Given the description of an element on the screen output the (x, y) to click on. 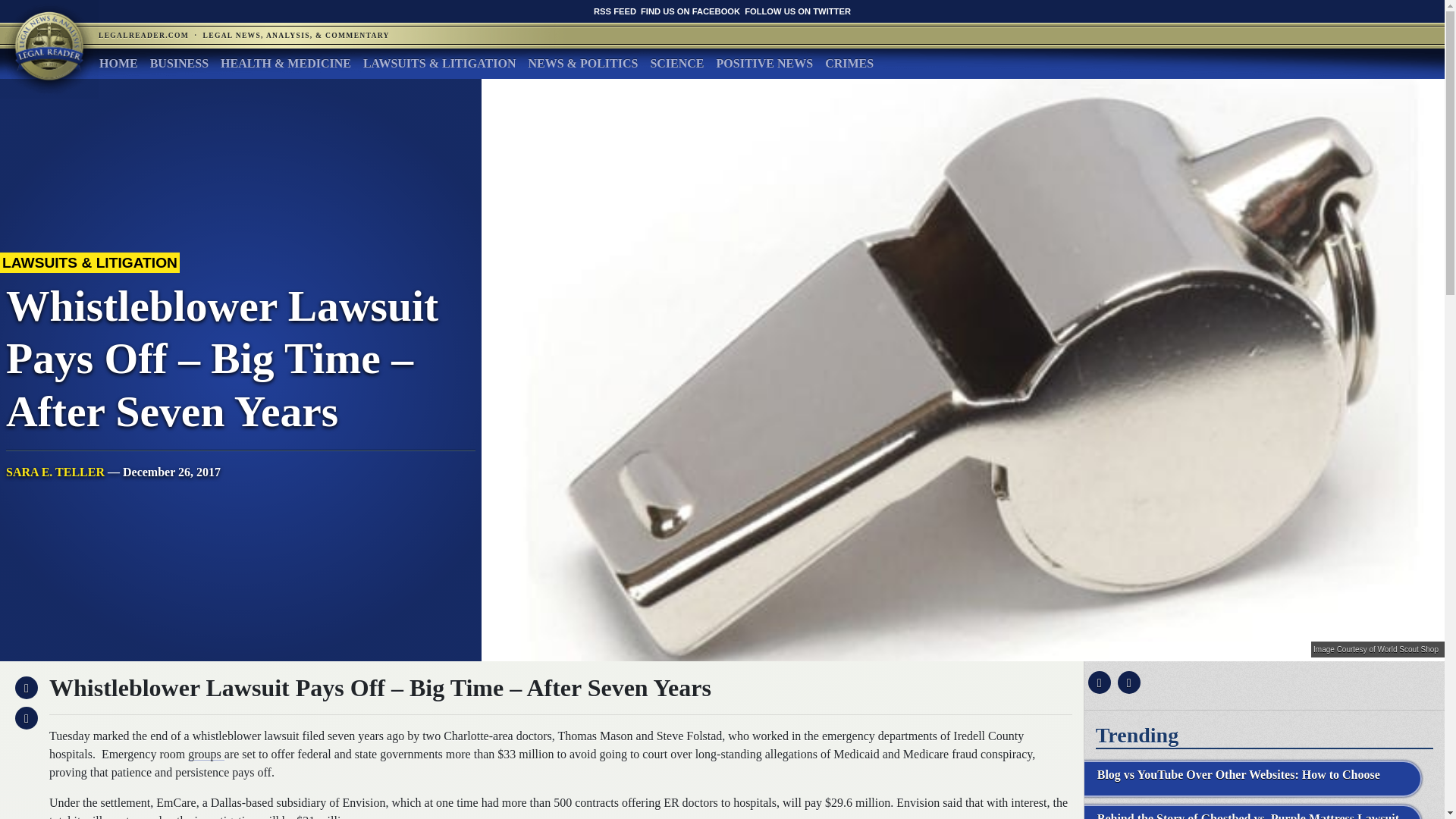
Business (179, 63)
BUSINESS (179, 63)
Share on twitter (1126, 682)
FIND US ON FACEBOOK (689, 10)
Share on facebook (1097, 682)
Share on twitter (24, 717)
CRIMES (848, 63)
Science (676, 63)
groups (205, 753)
Crimes (848, 63)
Posts by Sara E. Teller (54, 472)
Share on facebook (24, 687)
Find Legal Reader on Facebook (689, 10)
Follow Legal Reader on Twitter (797, 10)
HOME (118, 63)
